Given the description of an element on the screen output the (x, y) to click on. 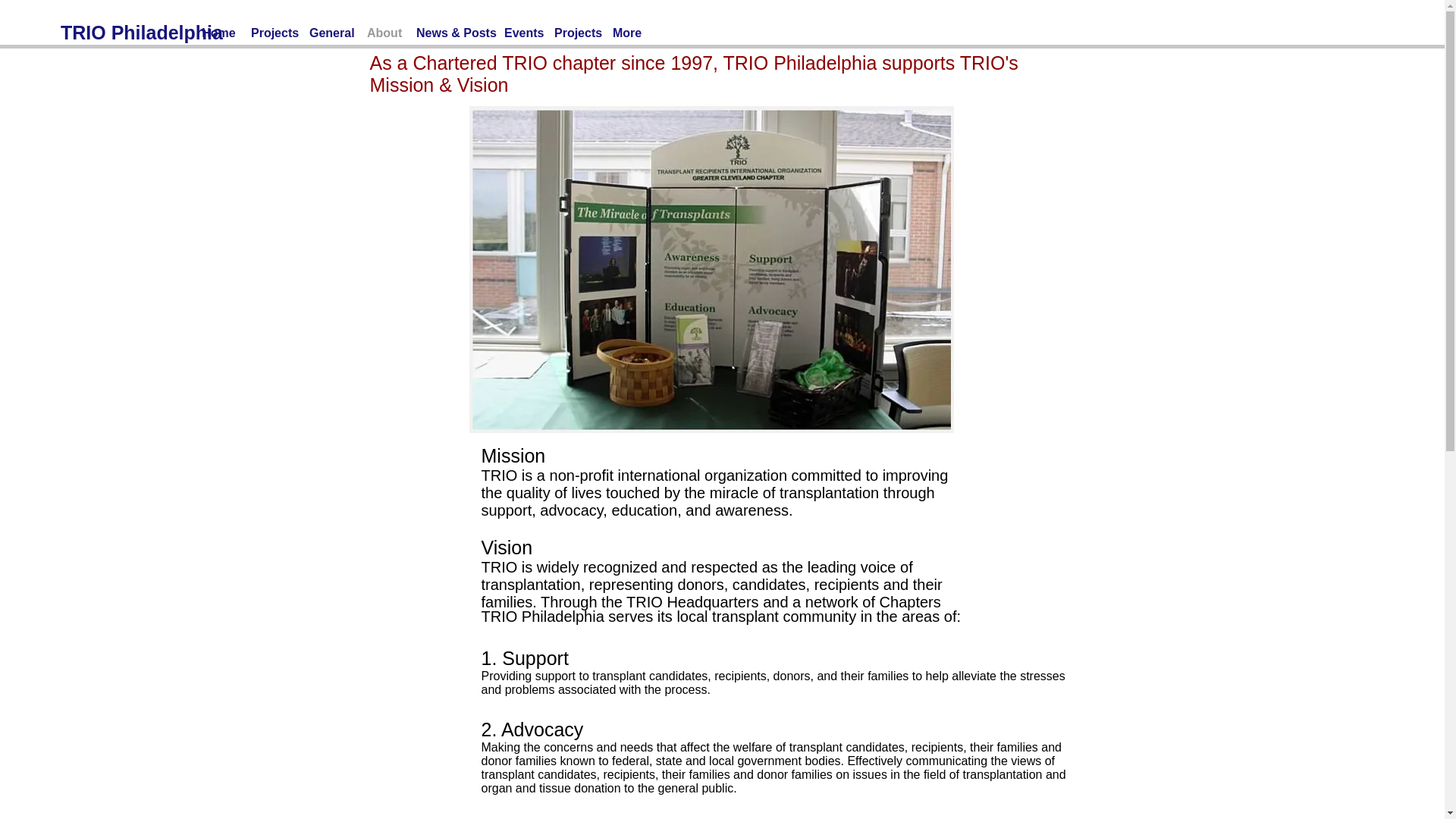
About (384, 33)
Projects (272, 33)
TRIO Philadelphia (141, 32)
Events (521, 33)
Projects (576, 33)
General (330, 33)
Home (218, 33)
